Given the description of an element on the screen output the (x, y) to click on. 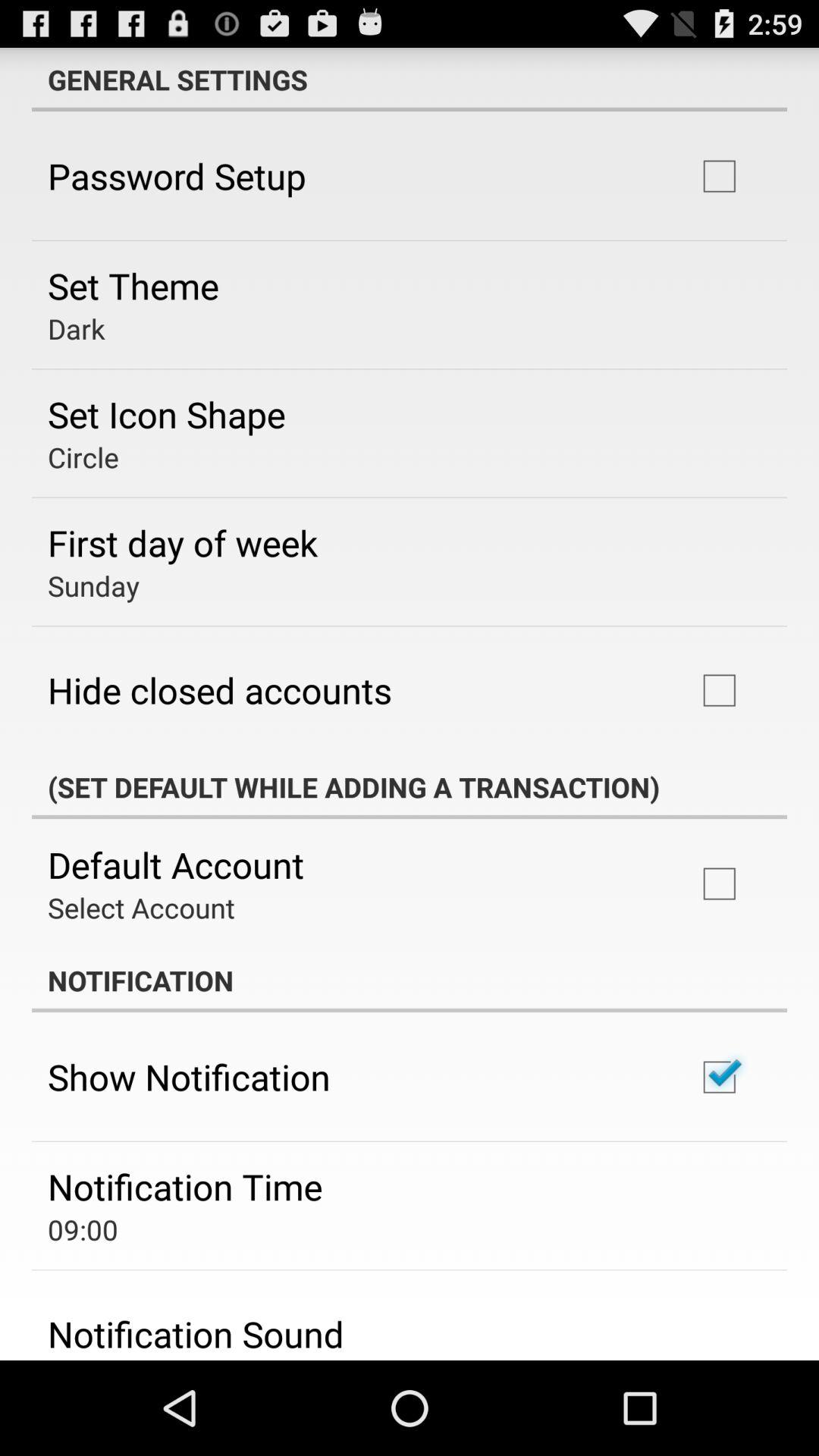
swipe to first day of app (182, 542)
